Given the description of an element on the screen output the (x, y) to click on. 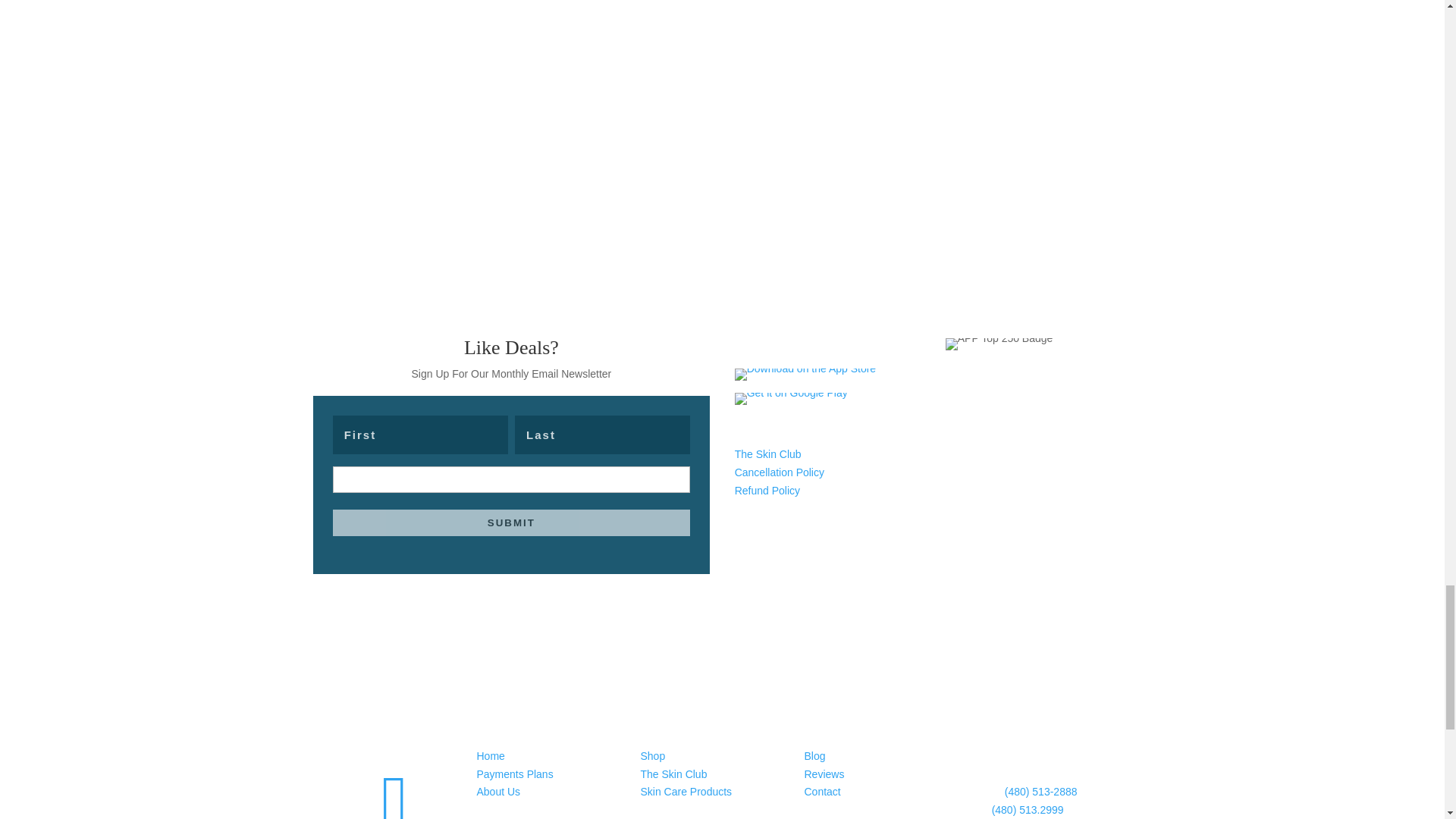
APP Top 250 (998, 344)
gplay (791, 398)
Group 28 (847, 82)
Submit (511, 522)
appstore (805, 374)
